Given the description of an element on the screen output the (x, y) to click on. 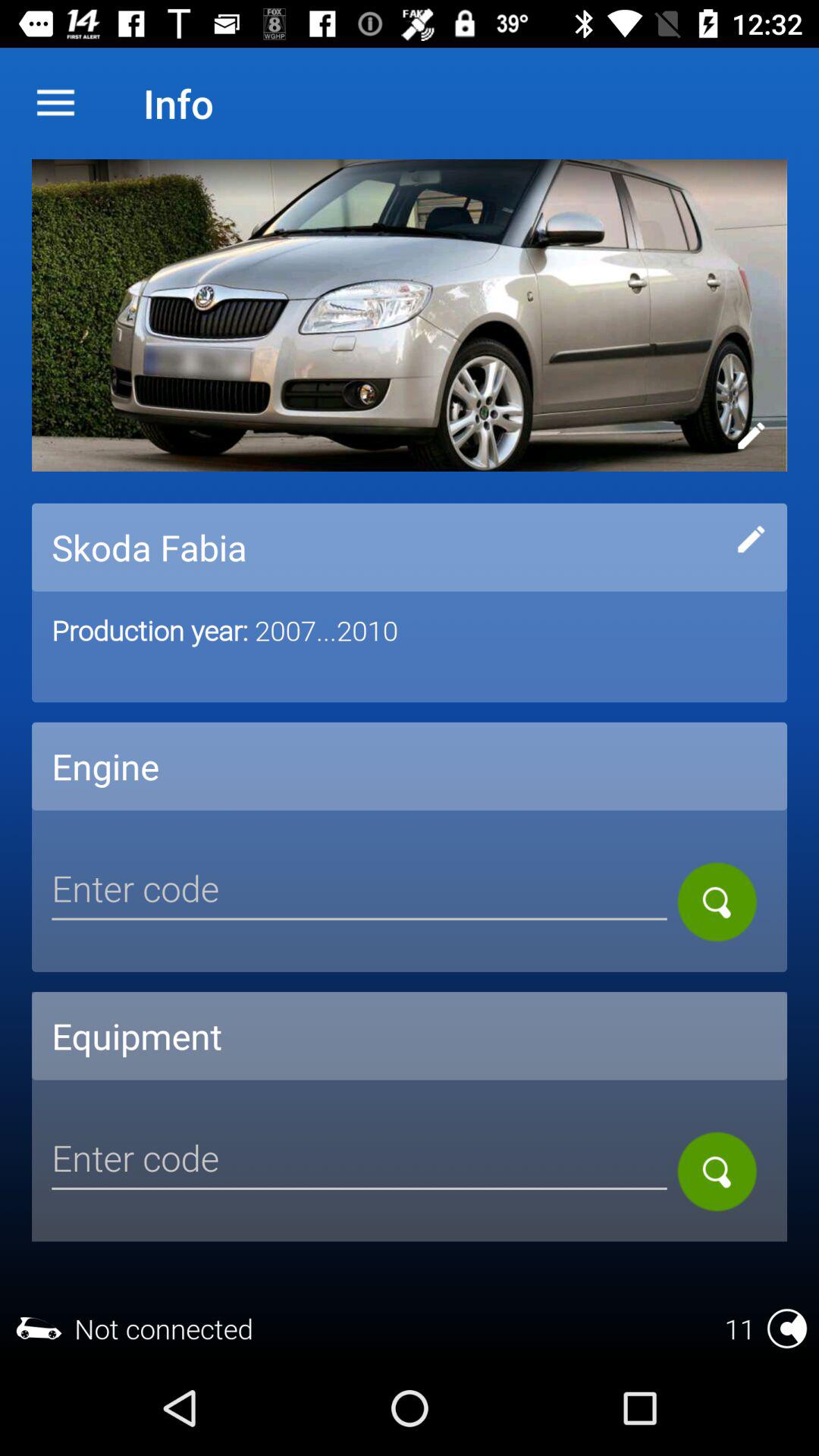
button to edit the name (751, 539)
